Given the description of an element on the screen output the (x, y) to click on. 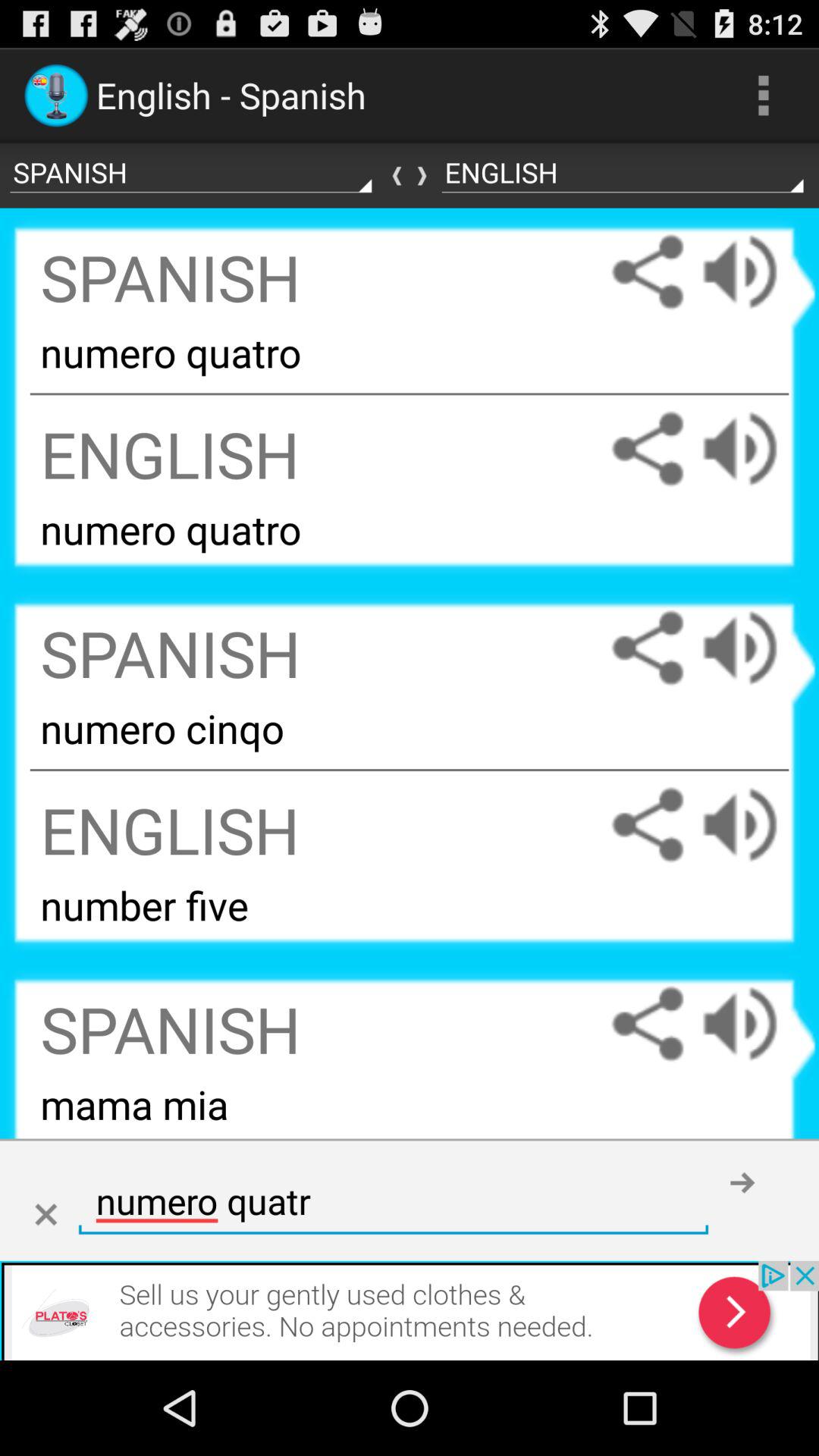
close search (45, 1214)
